Given the description of an element on the screen output the (x, y) to click on. 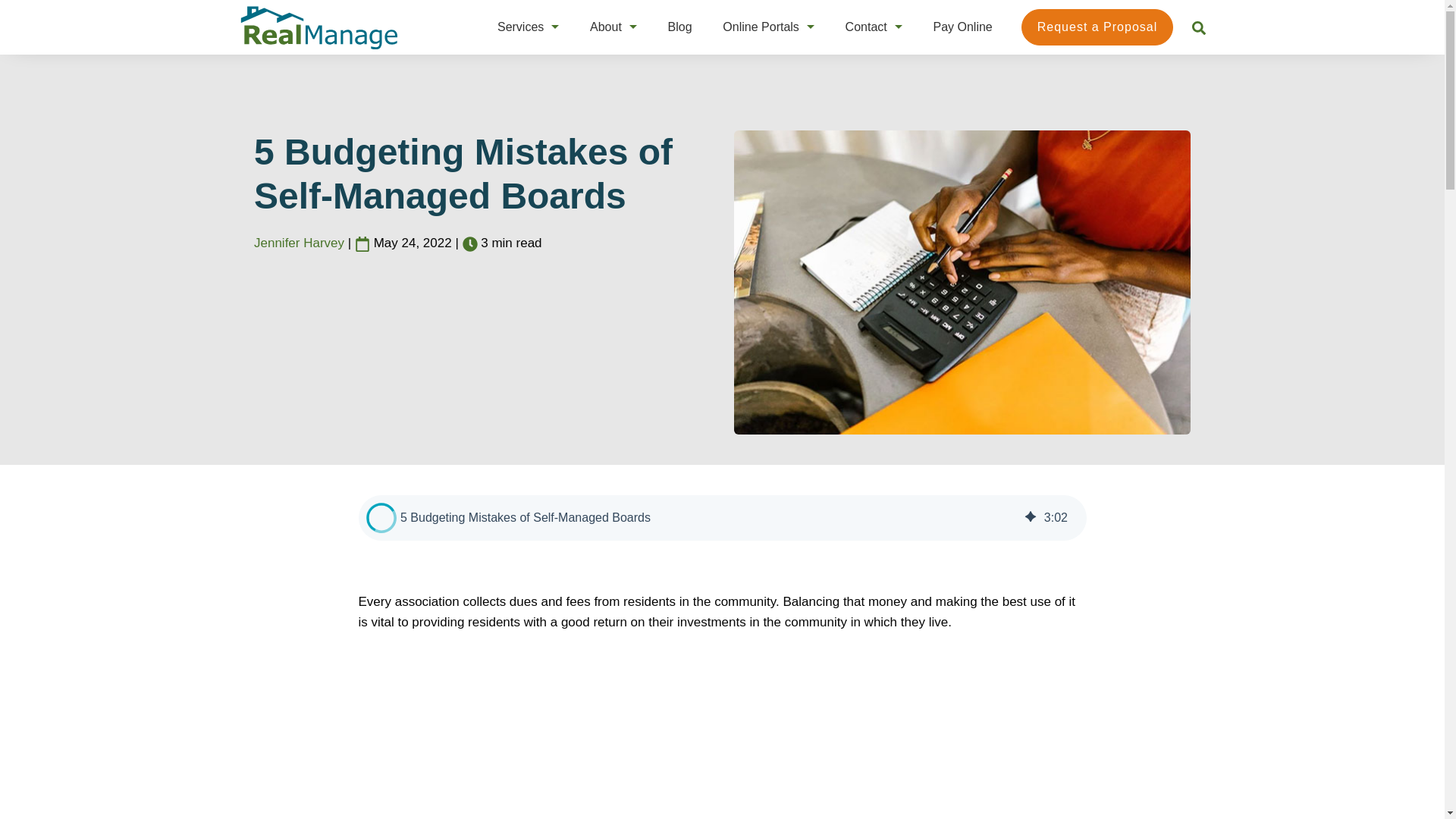
Pay Online (962, 26)
Request a Proposal (1097, 27)
HubSpot Video (722, 732)
About (605, 26)
Blog (680, 26)
RealManage (319, 26)
Jennifer Harvey (300, 242)
Services (520, 26)
Contact (865, 26)
Search (1198, 28)
Online Portals (760, 26)
